Given the description of an element on the screen output the (x, y) to click on. 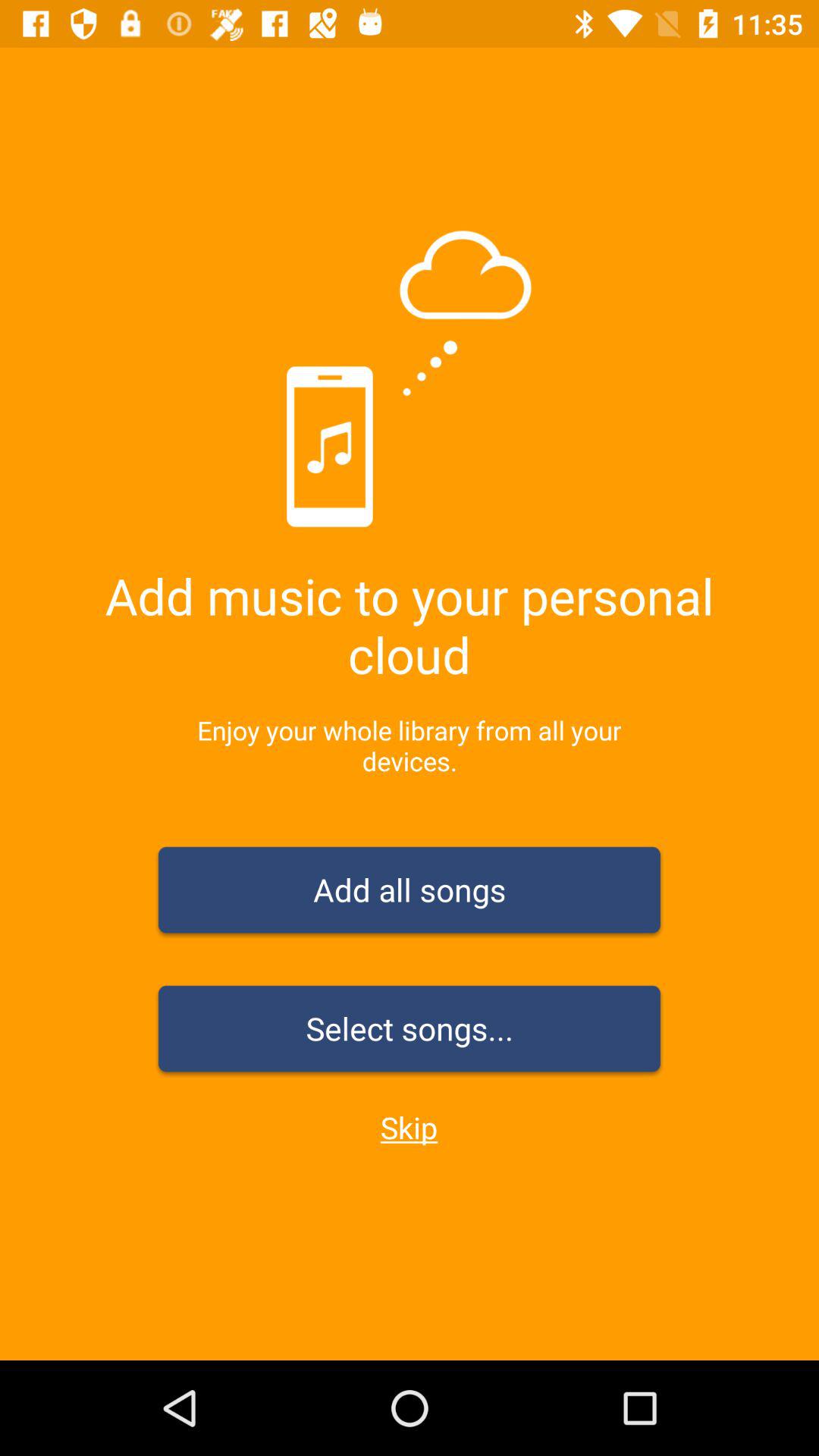
jump to skip icon (408, 1127)
